Given the description of an element on the screen output the (x, y) to click on. 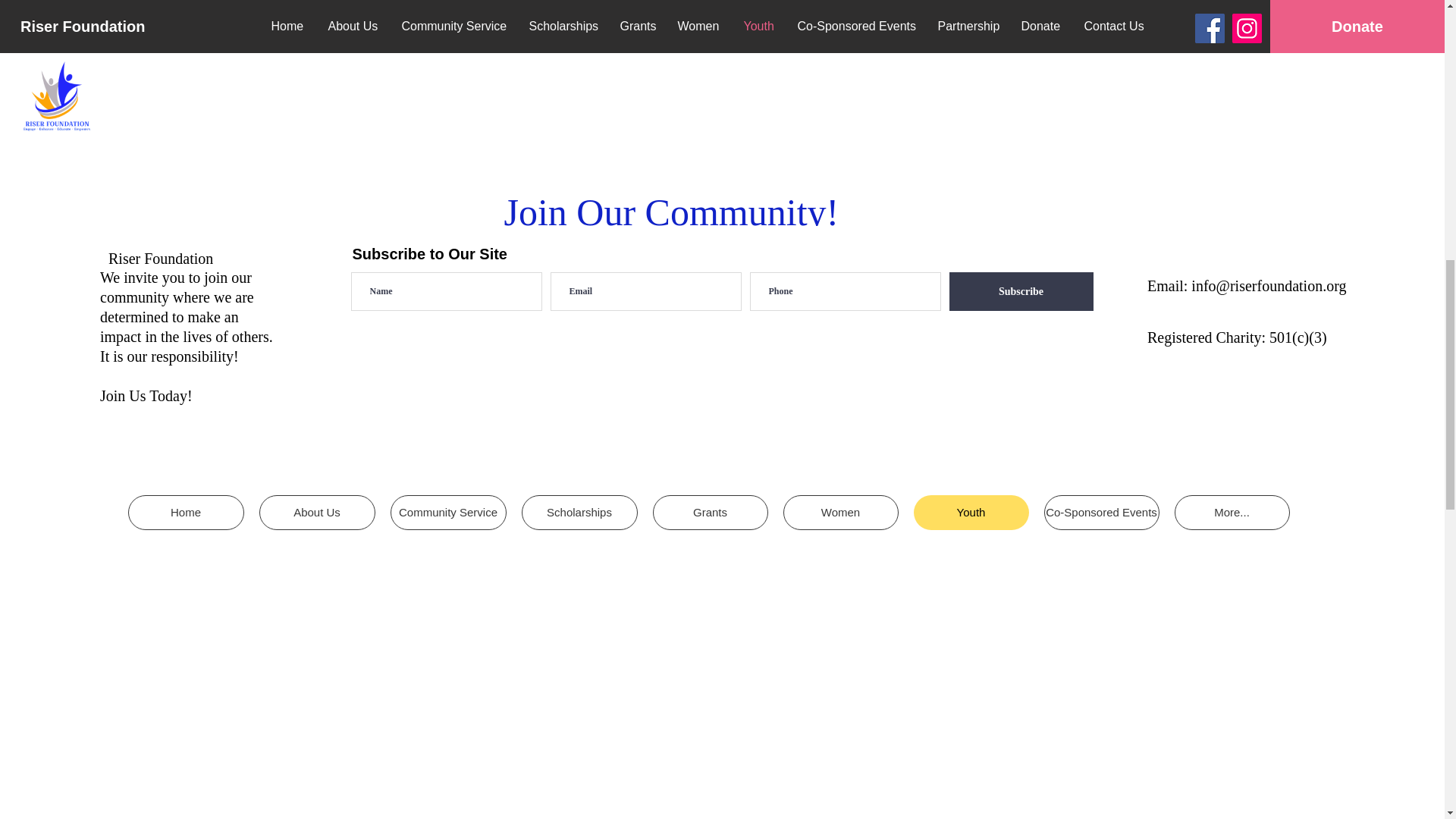
Subscribe (1021, 291)
About Us (317, 512)
Community Service (447, 512)
Donate (679, 5)
Grants (709, 512)
Scholarships (579, 512)
Home (185, 512)
